Given the description of an element on the screen output the (x, y) to click on. 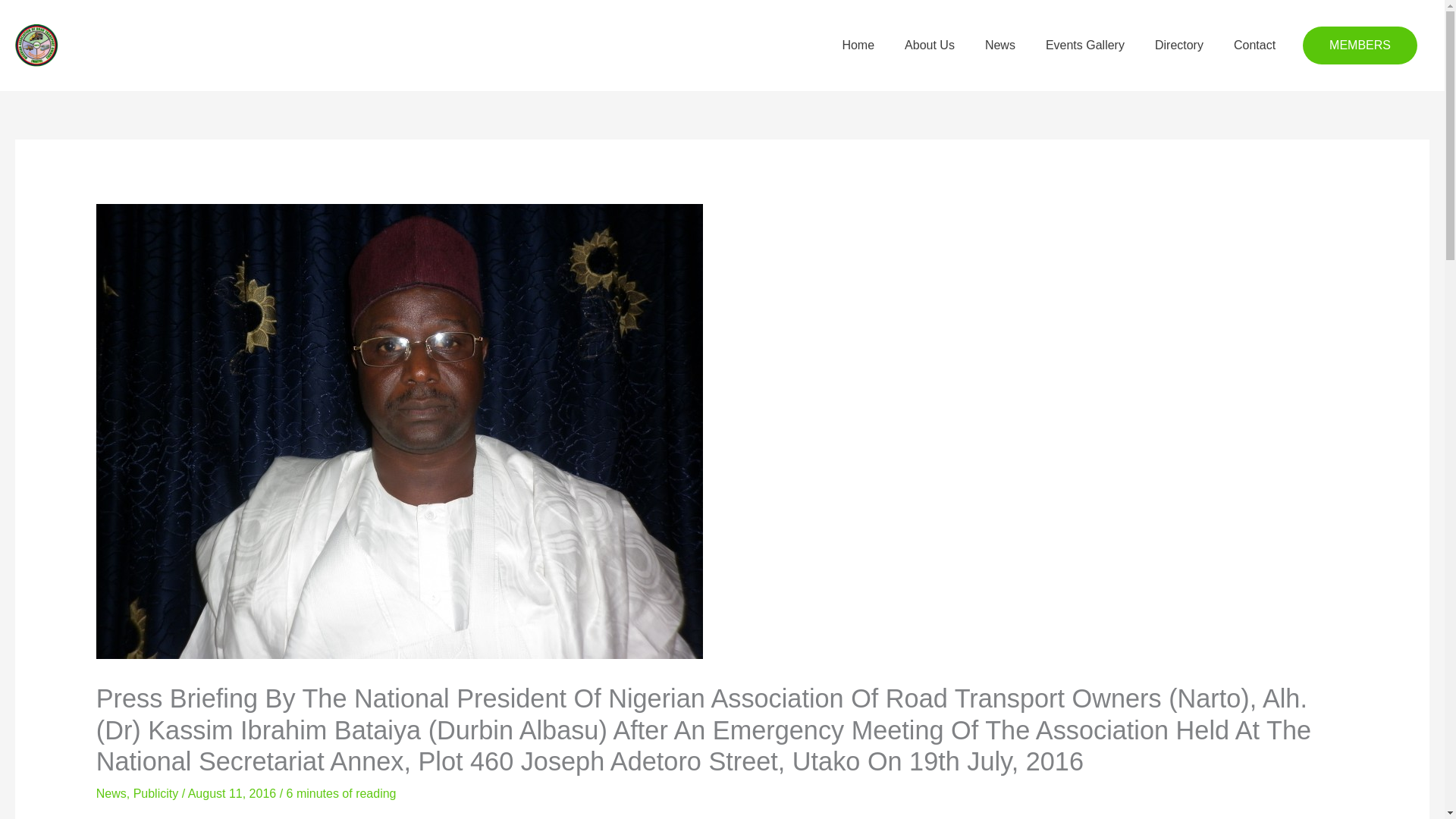
Publicity (156, 793)
MEMBERS (1359, 45)
Home (858, 45)
About Us (929, 45)
Contact (1254, 45)
Directory (1179, 45)
Events Gallery (1085, 45)
News (999, 45)
News (111, 793)
